Given the description of an element on the screen output the (x, y) to click on. 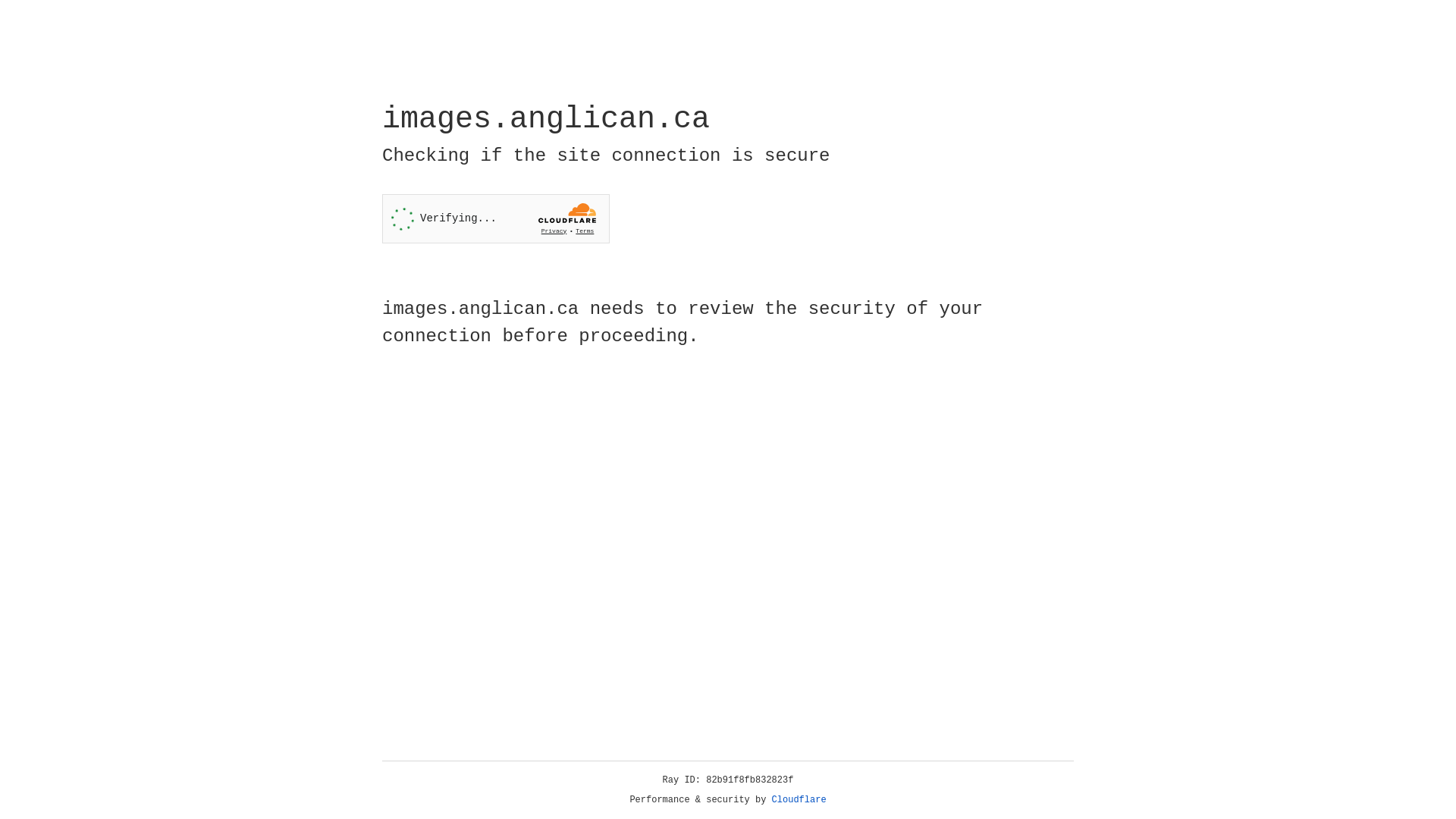
Cloudflare Element type: text (798, 799)
Widget containing a Cloudflare security challenge Element type: hover (495, 218)
